Given the description of an element on the screen output the (x, y) to click on. 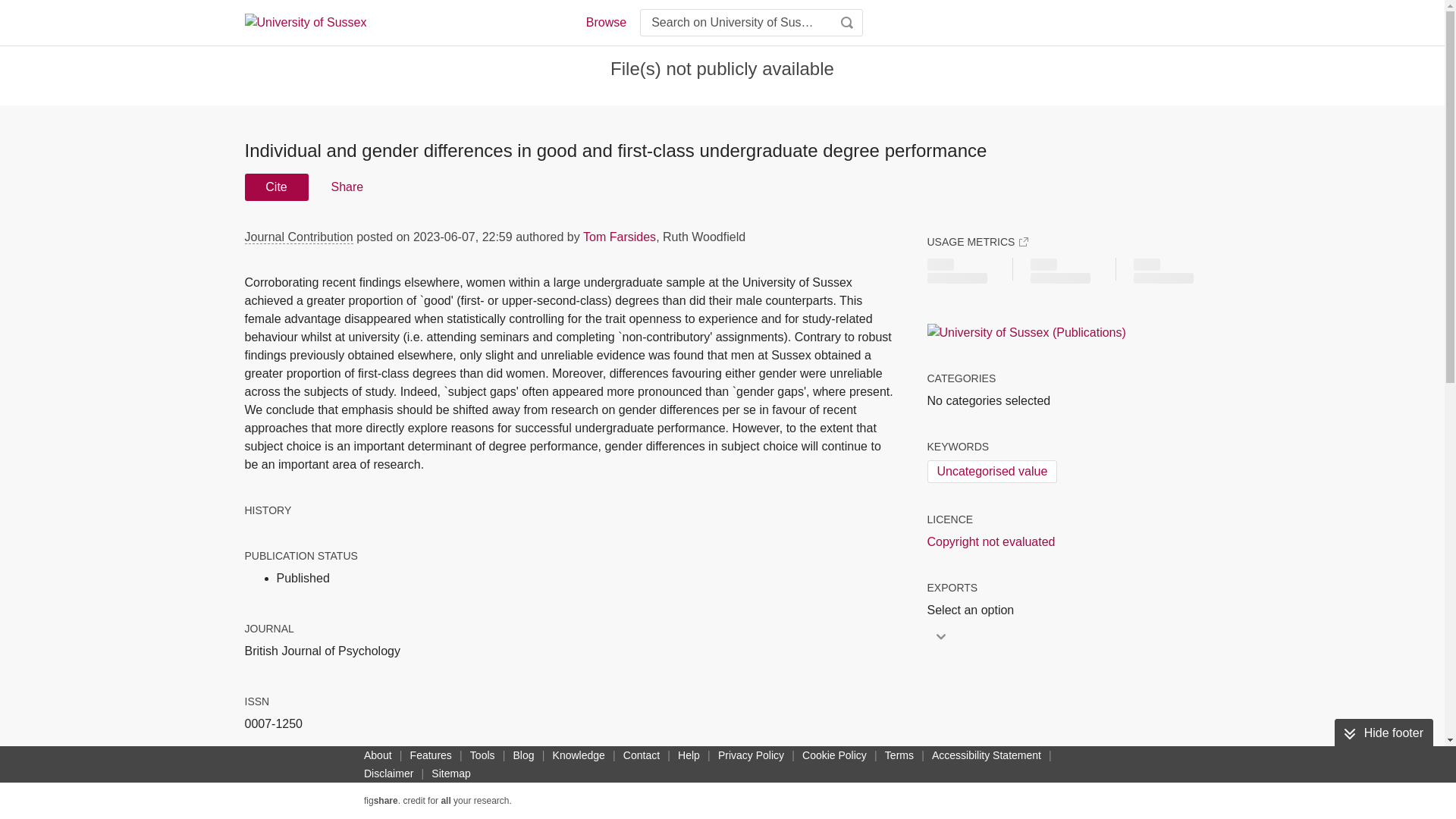
USAGE METRICS (976, 241)
Features (431, 755)
Accessibility Statement (986, 755)
Disclaimer (388, 773)
Hide footer (1383, 733)
Cookie Policy (833, 755)
Uncategorised value (991, 471)
Tools (482, 755)
Cite (275, 186)
Tom Farsides (619, 236)
Share (346, 186)
Contact (640, 755)
Copyright not evaluated (990, 542)
Terms (899, 755)
Help (688, 755)
